Given the description of an element on the screen output the (x, y) to click on. 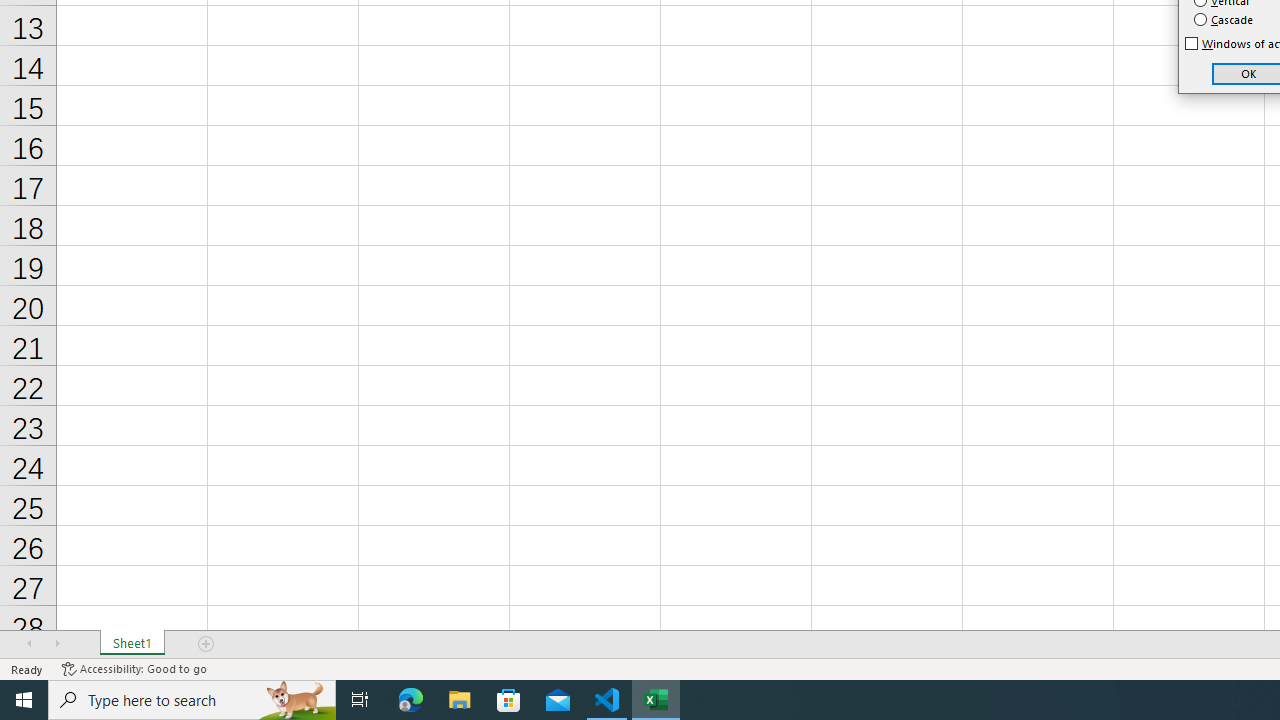
Cascade (1224, 20)
